Given the description of an element on the screen output the (x, y) to click on. 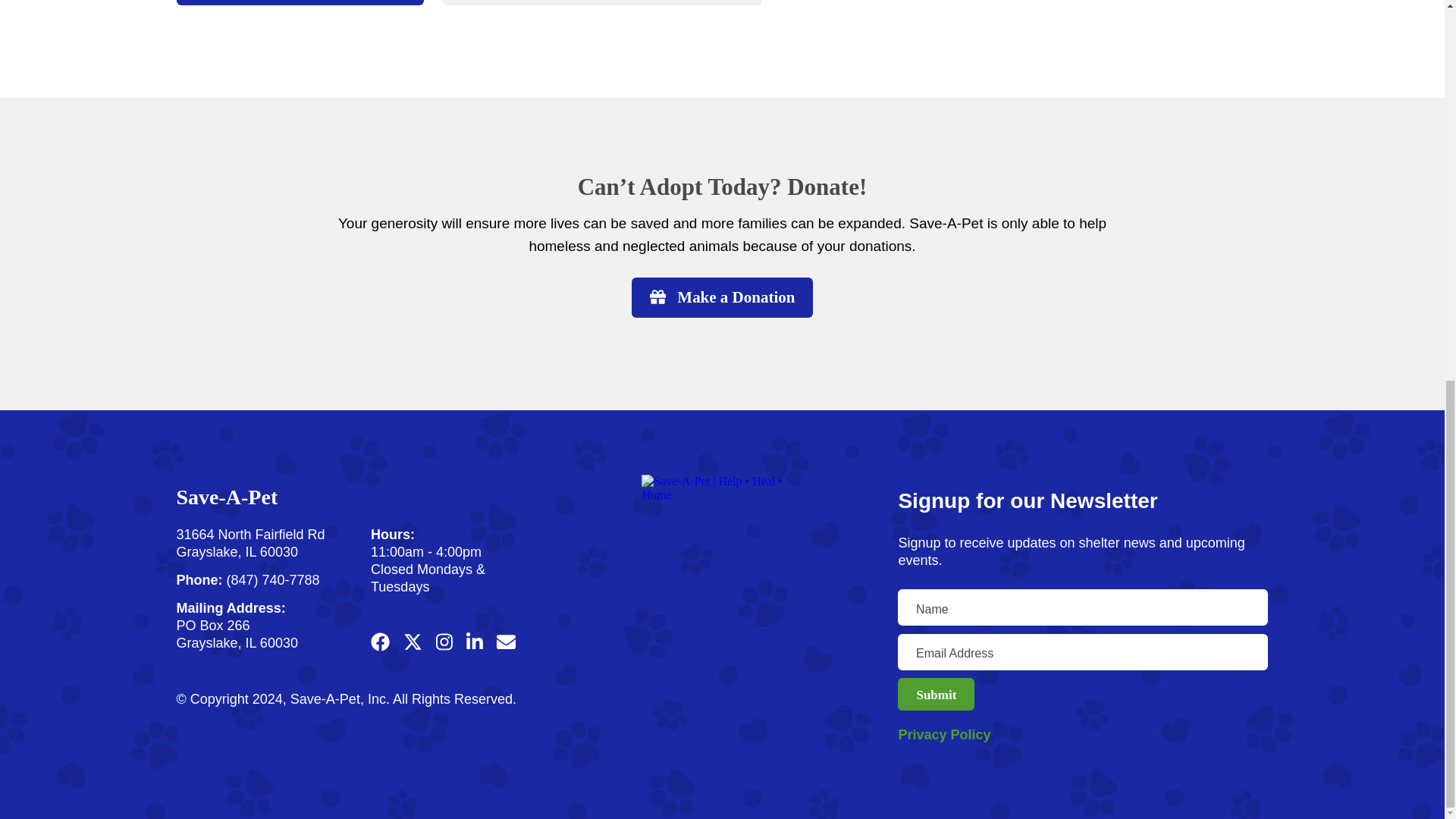
Submit (936, 694)
